Given the description of an element on the screen output the (x, y) to click on. 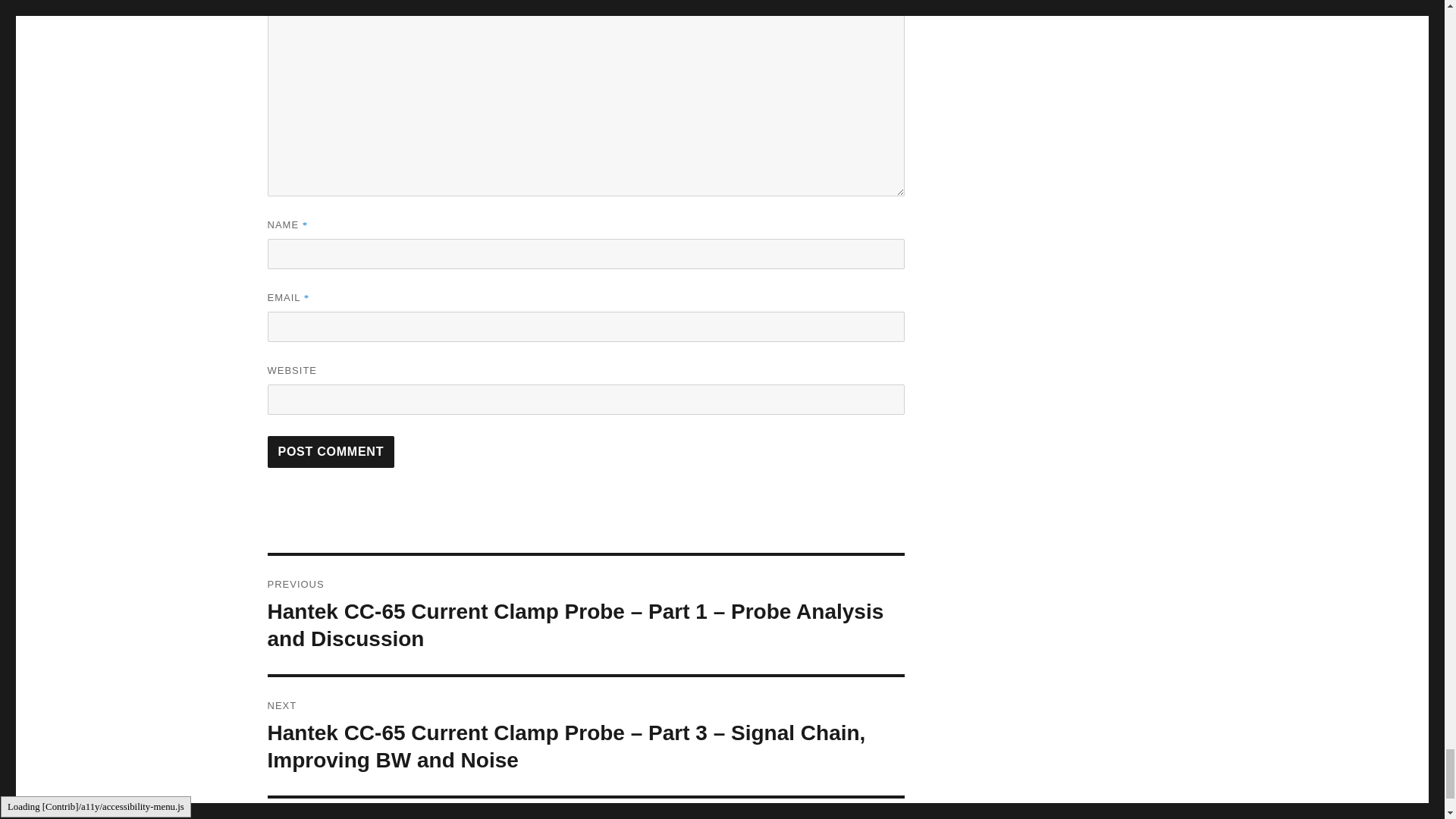
Post Comment (330, 451)
